Given the description of an element on the screen output the (x, y) to click on. 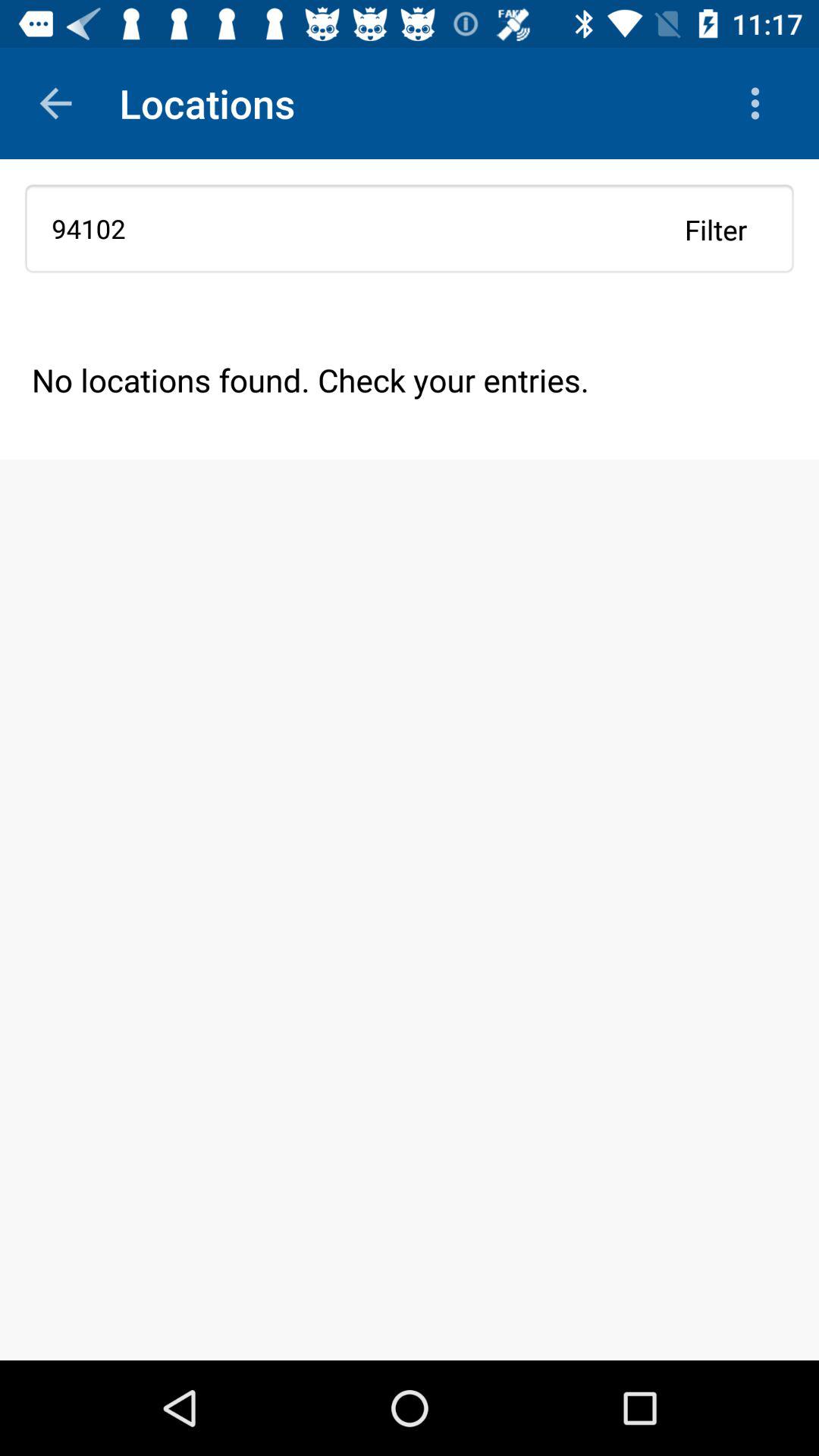
open the app to the right of the locations app (759, 103)
